Given the description of an element on the screen output the (x, y) to click on. 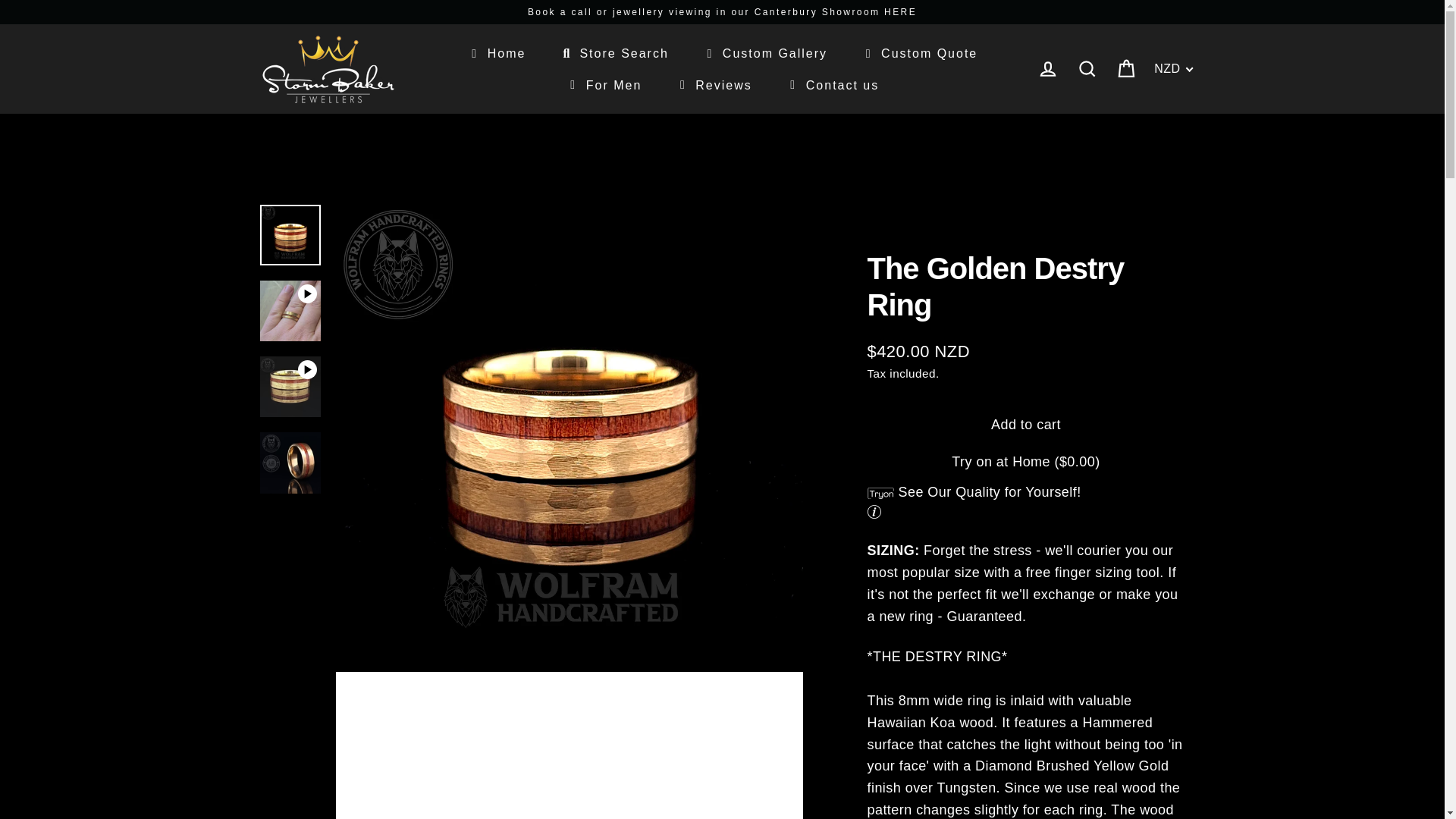
Custom Gallery (764, 53)
Log in (1047, 69)
Store Search (612, 53)
Search (1086, 69)
Custom Quote (919, 53)
Contact us (831, 84)
Reviews (713, 84)
For Men (603, 84)
Home (496, 53)
